Given the description of an element on the screen output the (x, y) to click on. 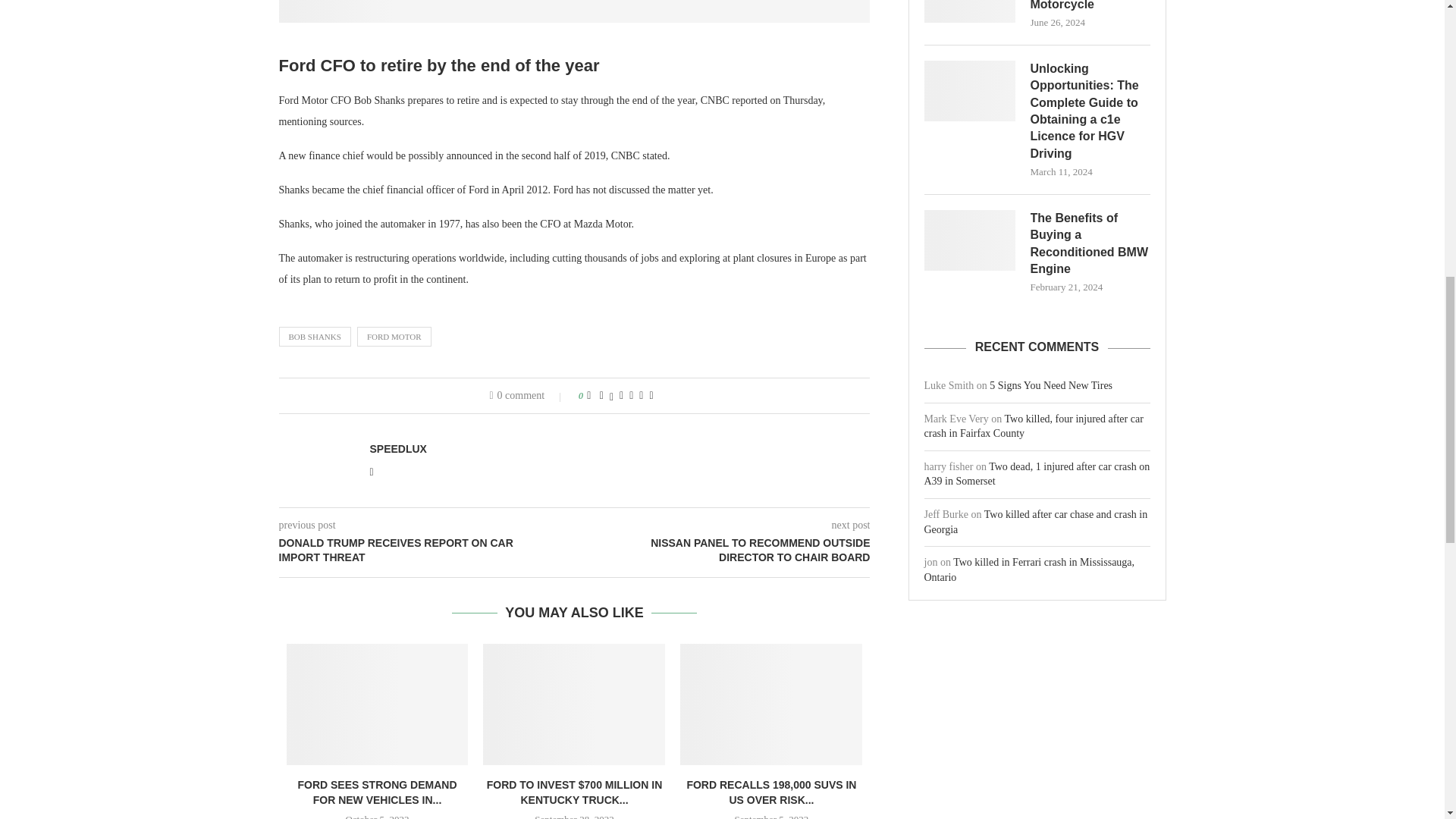
DONALD TRUMP RECEIVES REPORT ON CAR IMPORT THREAT (427, 550)
BOB SHANKS (314, 336)
FORD MOTOR (393, 336)
NISSAN PANEL TO RECOMMEND OUTSIDE DIRECTOR TO CHAIR BOARD (722, 550)
ford-logo (574, 11)
FORD SEES STRONG DEMAND FOR NEW VEHICLES IN... (377, 791)
FORD RECALLS 198,000 SUVS IN US OVER RISK... (770, 791)
SPEEDLUX (397, 449)
Author SpeedLux (397, 449)
Ford recalls 198,000 SUVs in US over risk of fire (770, 703)
Ford sees strong demand for new vehicles in September (377, 703)
